Given the description of an element on the screen output the (x, y) to click on. 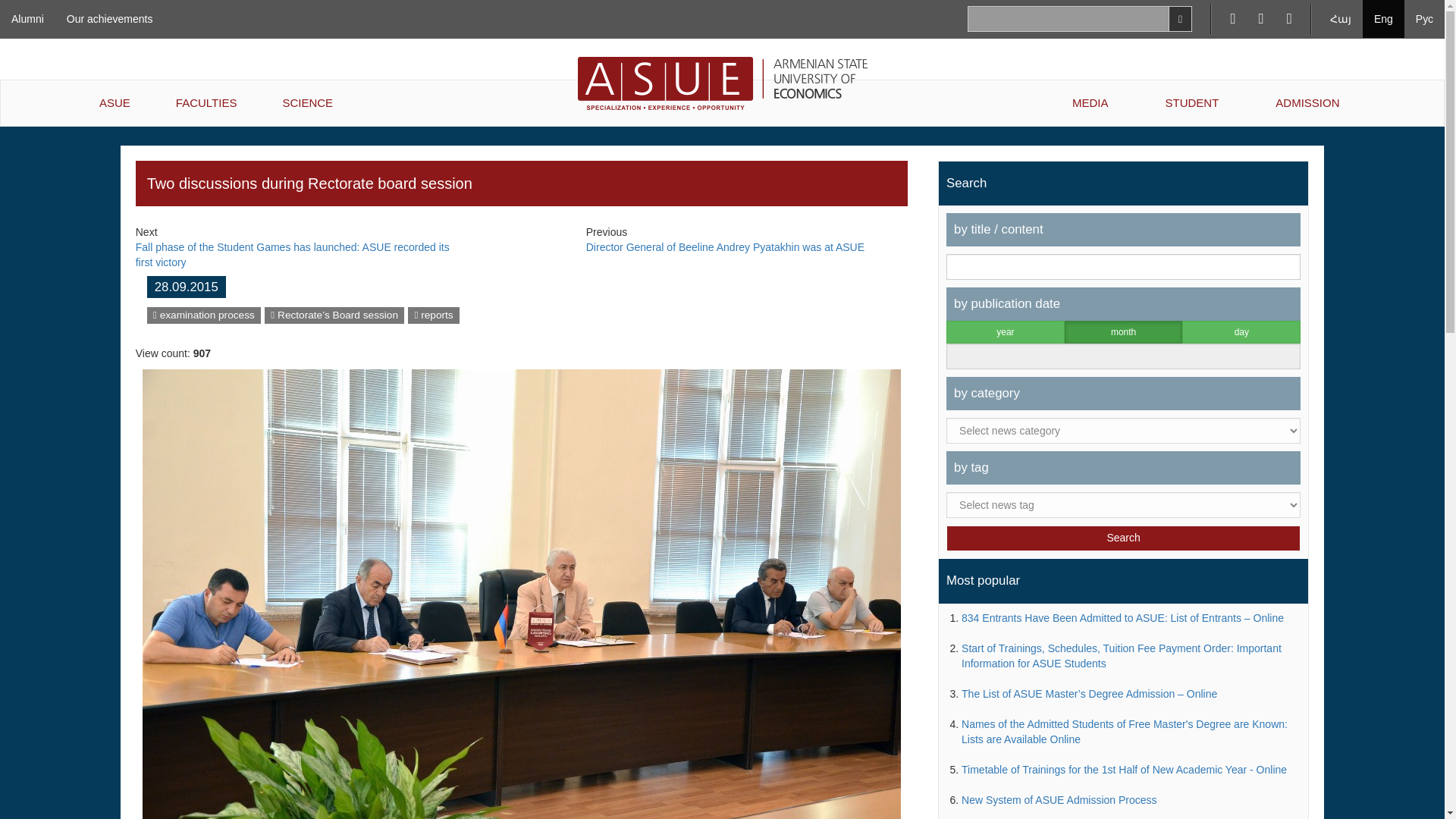
Website name (203, 315)
0 (1000, 333)
Our achievements (109, 18)
2 (1239, 333)
1 (1115, 333)
Alumni (27, 18)
Website name (333, 315)
Website name (432, 315)
